Given the description of an element on the screen output the (x, y) to click on. 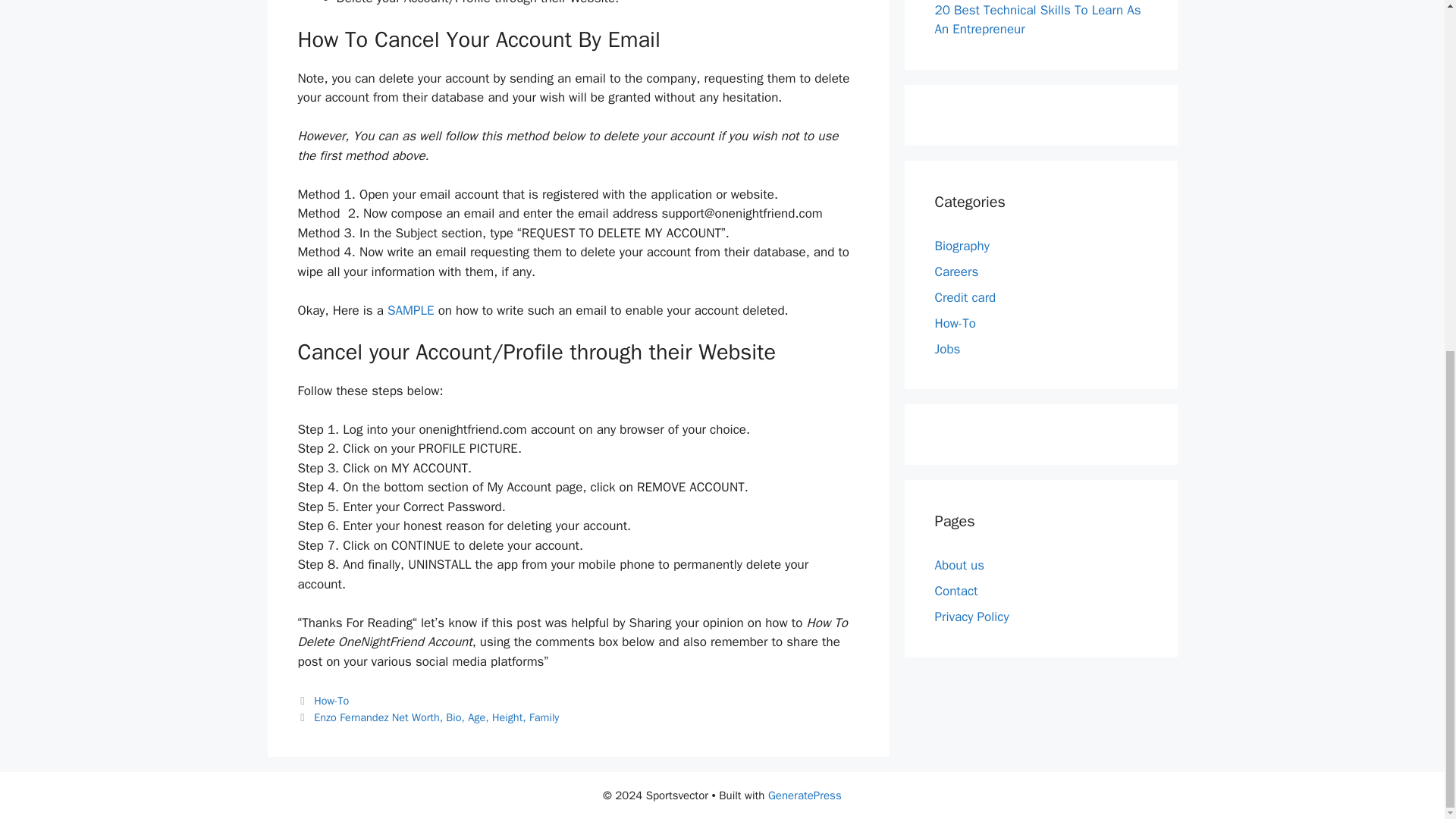
Biography (961, 245)
Careers (956, 270)
GeneratePress (804, 794)
Credit card (964, 296)
About us (959, 565)
SAMPLE (412, 310)
20 Best Technical Skills To Learn As An Entrepreneur (1037, 19)
Enzo Fernandez Net Worth, Bio, Age, Height, Family (436, 716)
Contact (955, 590)
How-To (331, 700)
How-To (954, 322)
Privacy Policy (971, 616)
Jobs (946, 348)
